Given the description of an element on the screen output the (x, y) to click on. 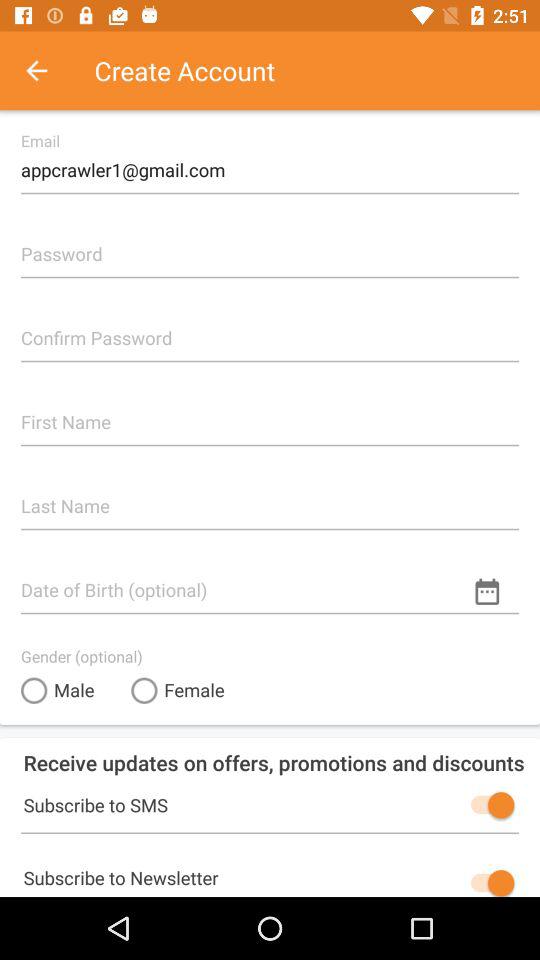
toggle newsletter subscription (487, 881)
